Given the description of an element on the screen output the (x, y) to click on. 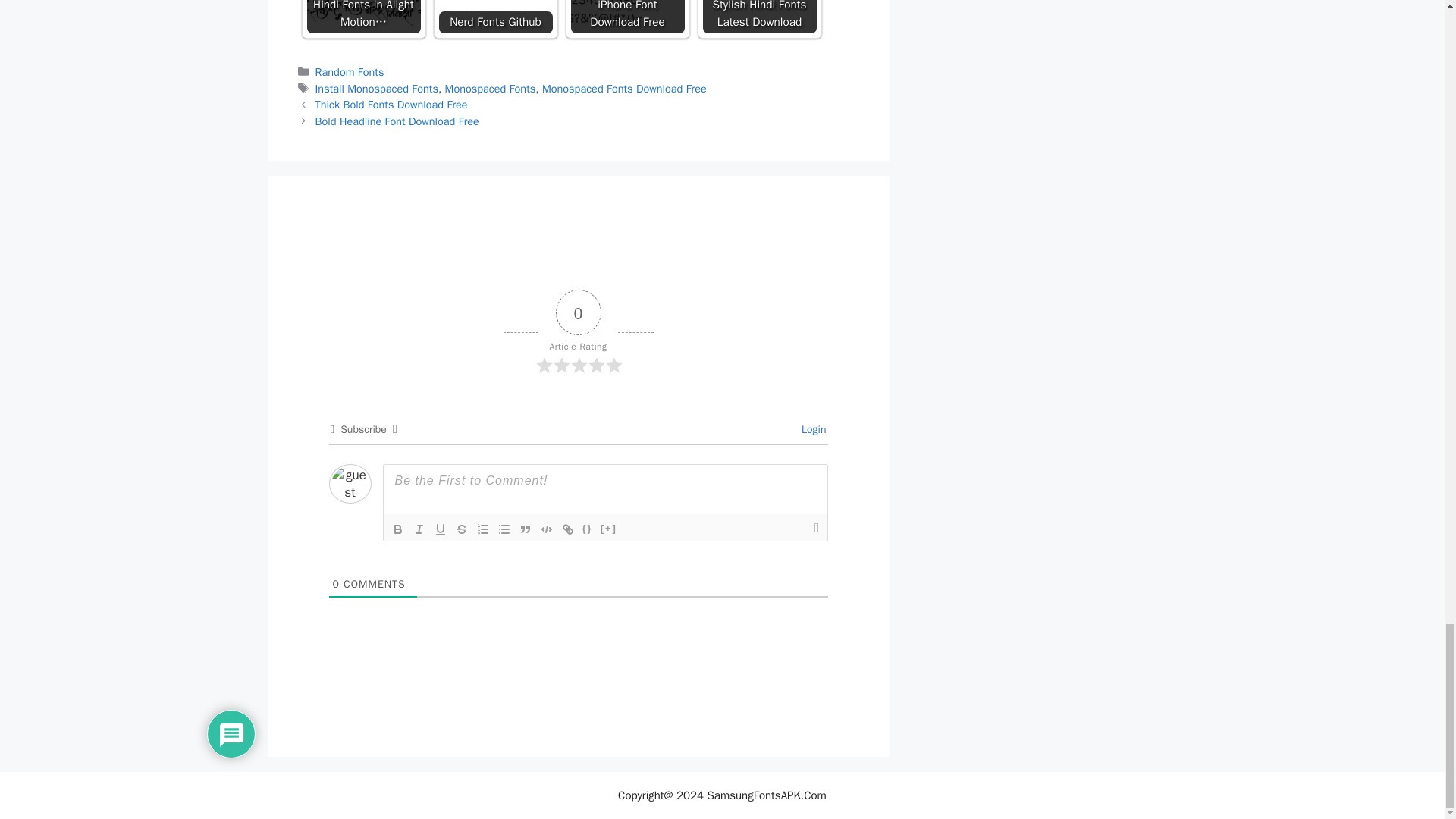
iPhone Font Download Free (627, 16)
Italic (418, 529)
Thick Bold Fonts Download Free (391, 104)
Stylish Hindi Fonts Latest Download (758, 16)
Monospaced Fonts (490, 88)
Monospaced Fonts Download Free (623, 88)
Bold (397, 529)
Random Fonts (349, 71)
Underline (439, 529)
Bold Headline Font Download Free (397, 120)
